Given the description of an element on the screen output the (x, y) to click on. 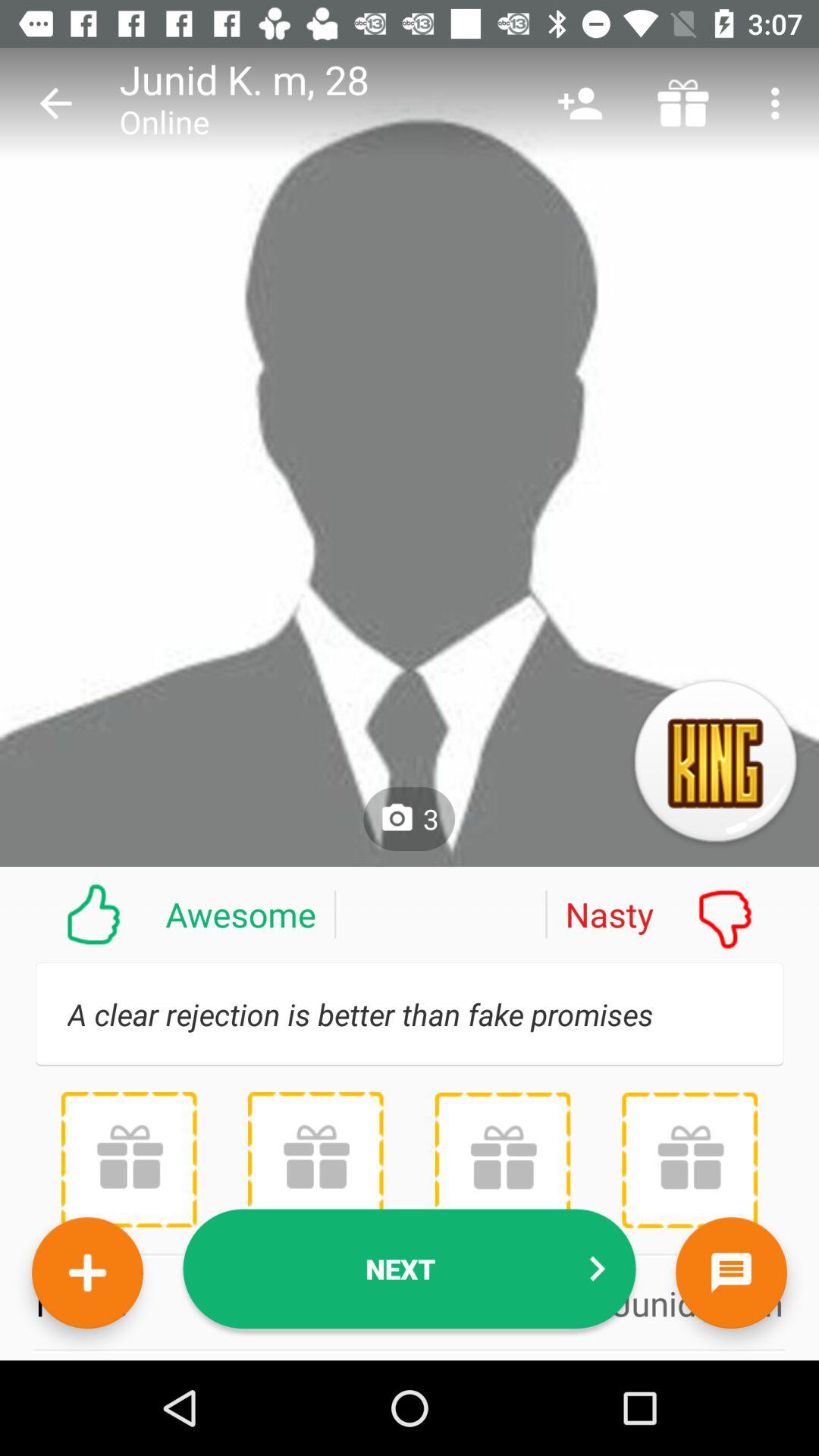
give a gift (315, 1159)
